Given the description of an element on the screen output the (x, y) to click on. 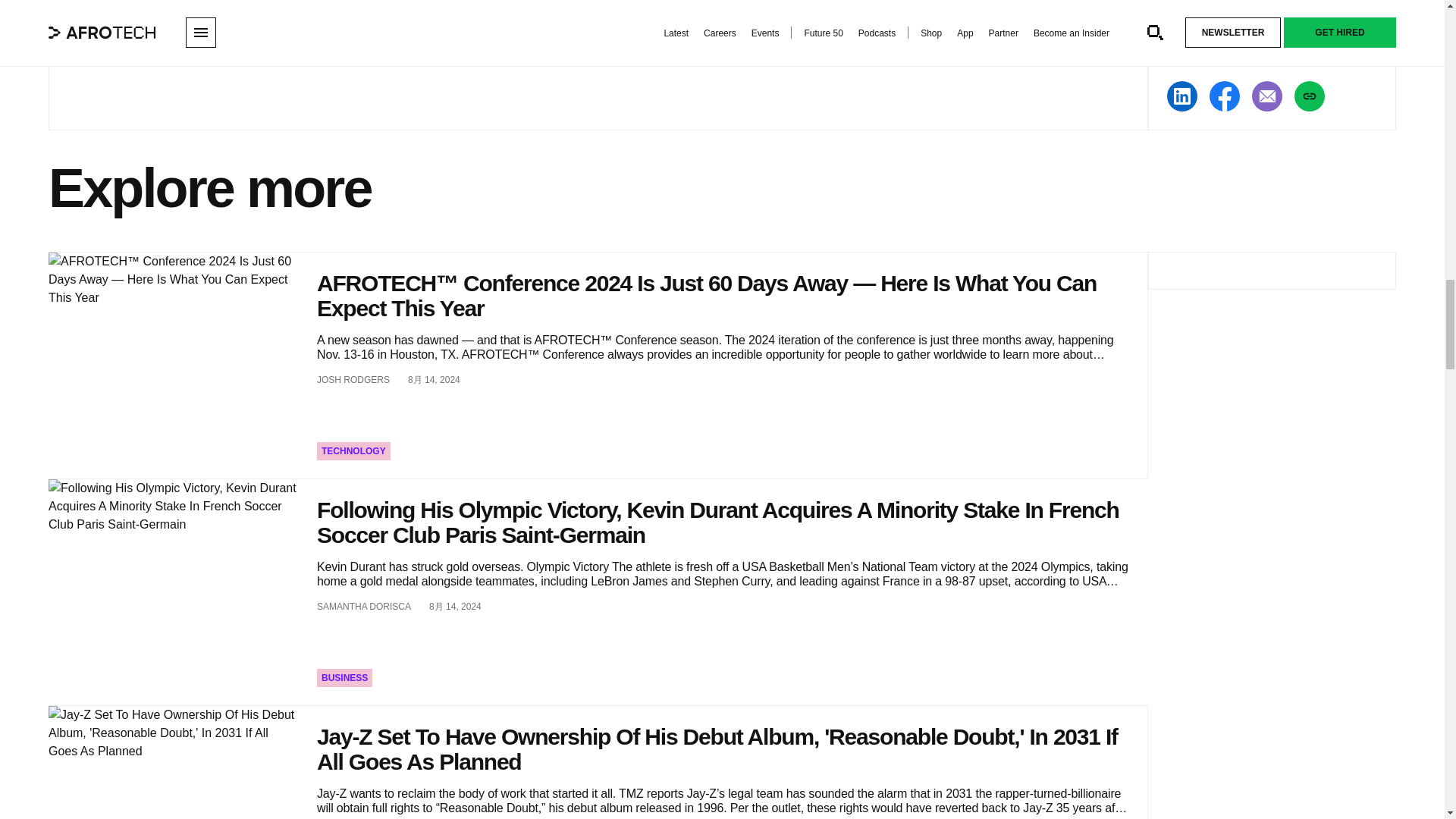
RACISM (89, 8)
